Given the description of an element on the screen output the (x, y) to click on. 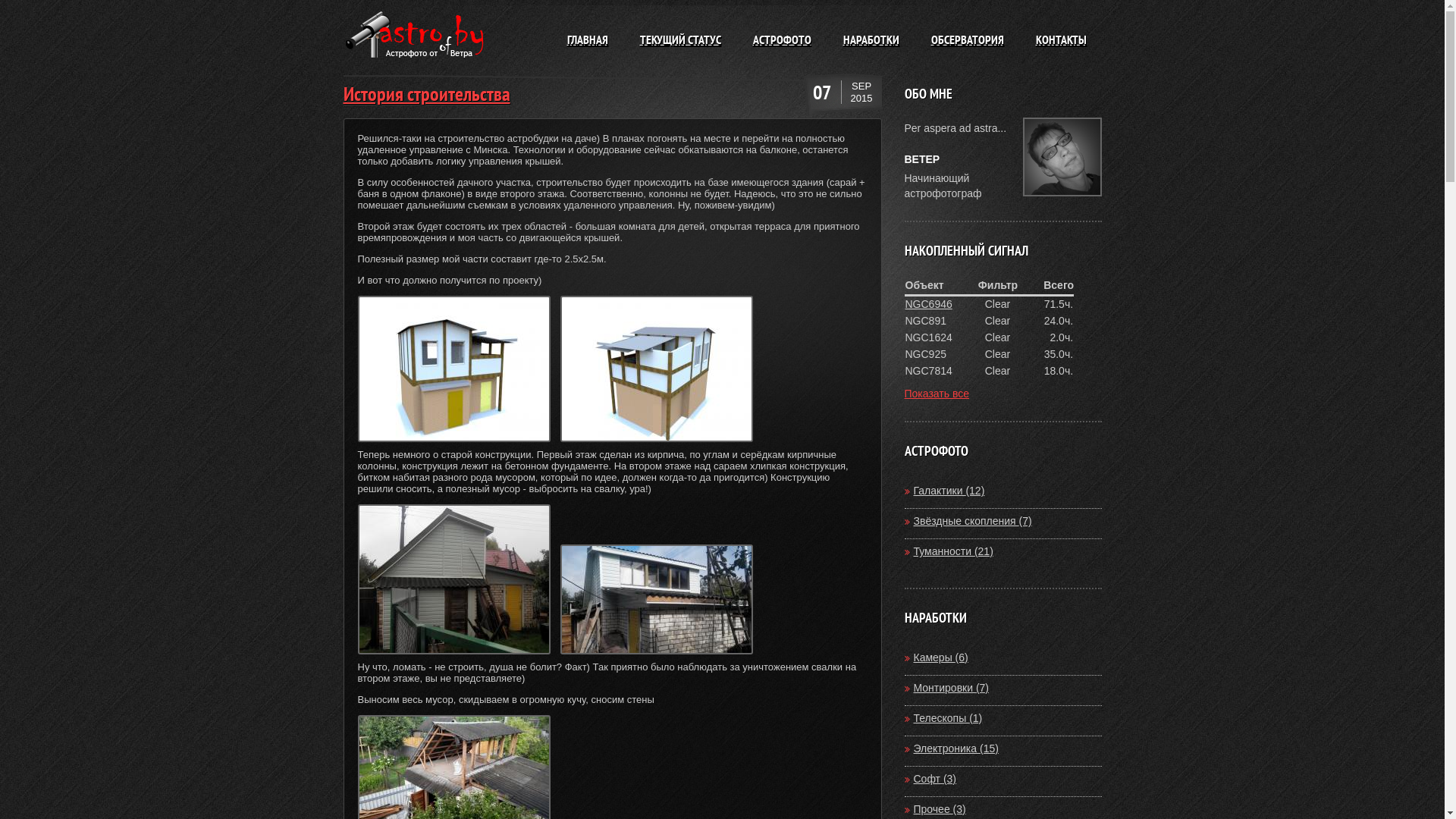
Home Element type: hover (418, 62)
NGC6946 Element type: text (928, 304)
